Given the description of an element on the screen output the (x, y) to click on. 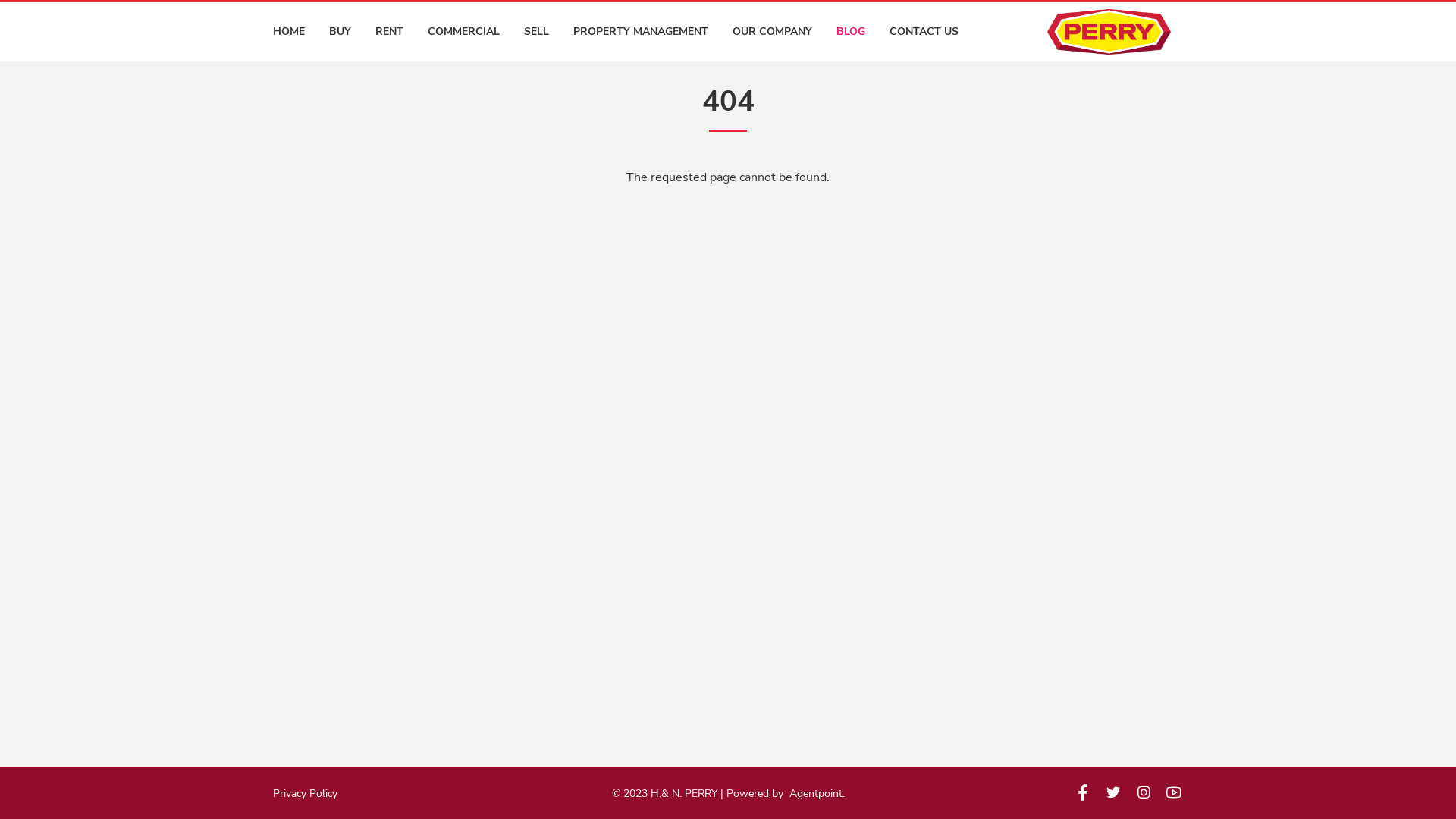
HOME Element type: text (288, 31)
COMMERCIAL Element type: text (463, 31)
Privacy Policy Element type: text (305, 793)
CONTACT US Element type: text (923, 31)
PROPERTY MANAGEMENT Element type: text (640, 31)
BUY Element type: text (340, 31)
BLOG Element type: text (850, 31)
RENT Element type: text (389, 31)
OUR COMPANY Element type: text (772, 31)
SELL Element type: text (536, 31)
Agentpoint Element type: text (814, 792)
